Given the description of an element on the screen output the (x, y) to click on. 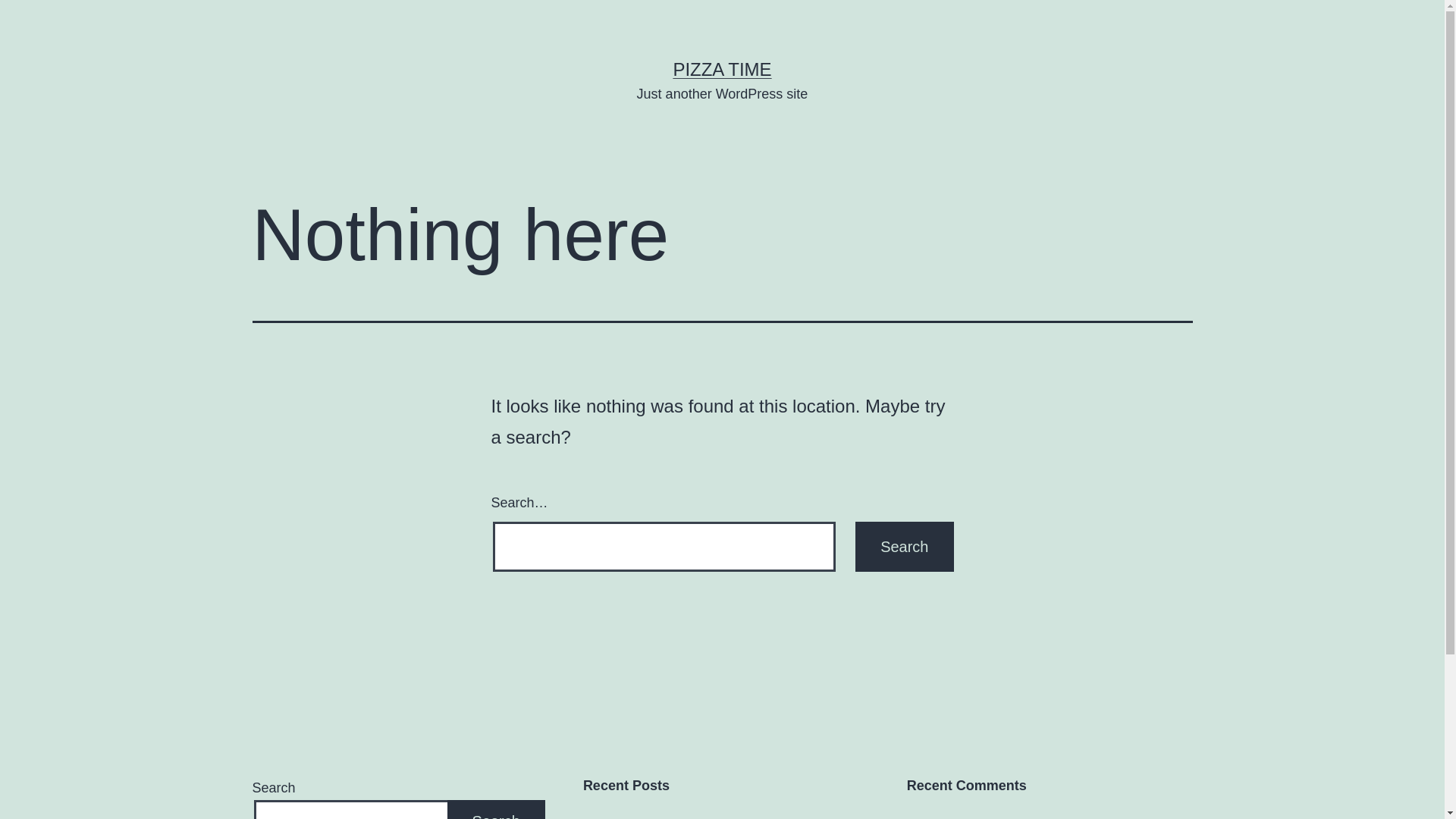
PIZZA TIME Element type: text (721, 69)
Search Element type: text (904, 546)
